Given the description of an element on the screen output the (x, y) to click on. 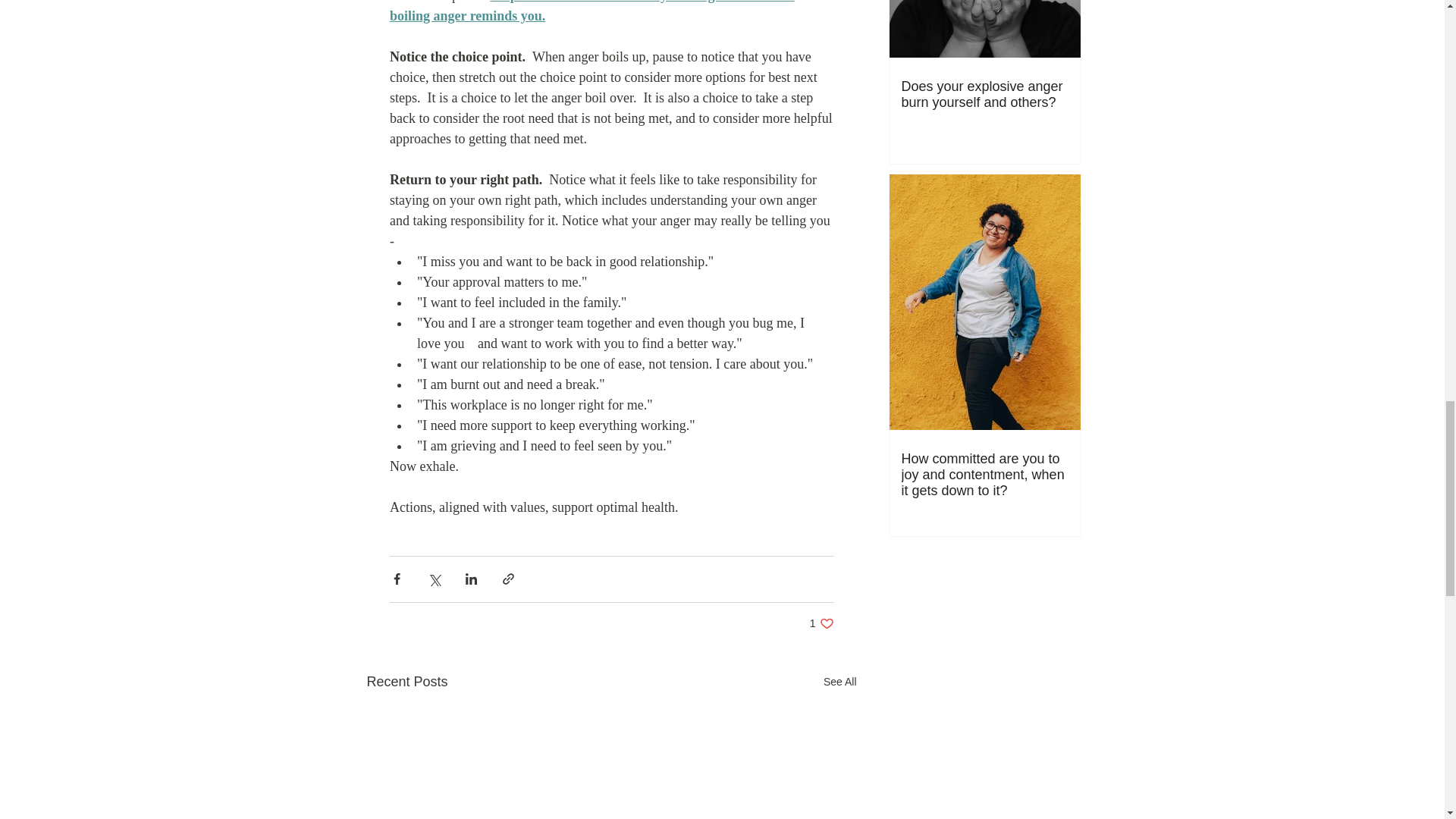
See All (840, 681)
Does your explosive anger burn yourself and others? (984, 94)
